Given the description of an element on the screen output the (x, y) to click on. 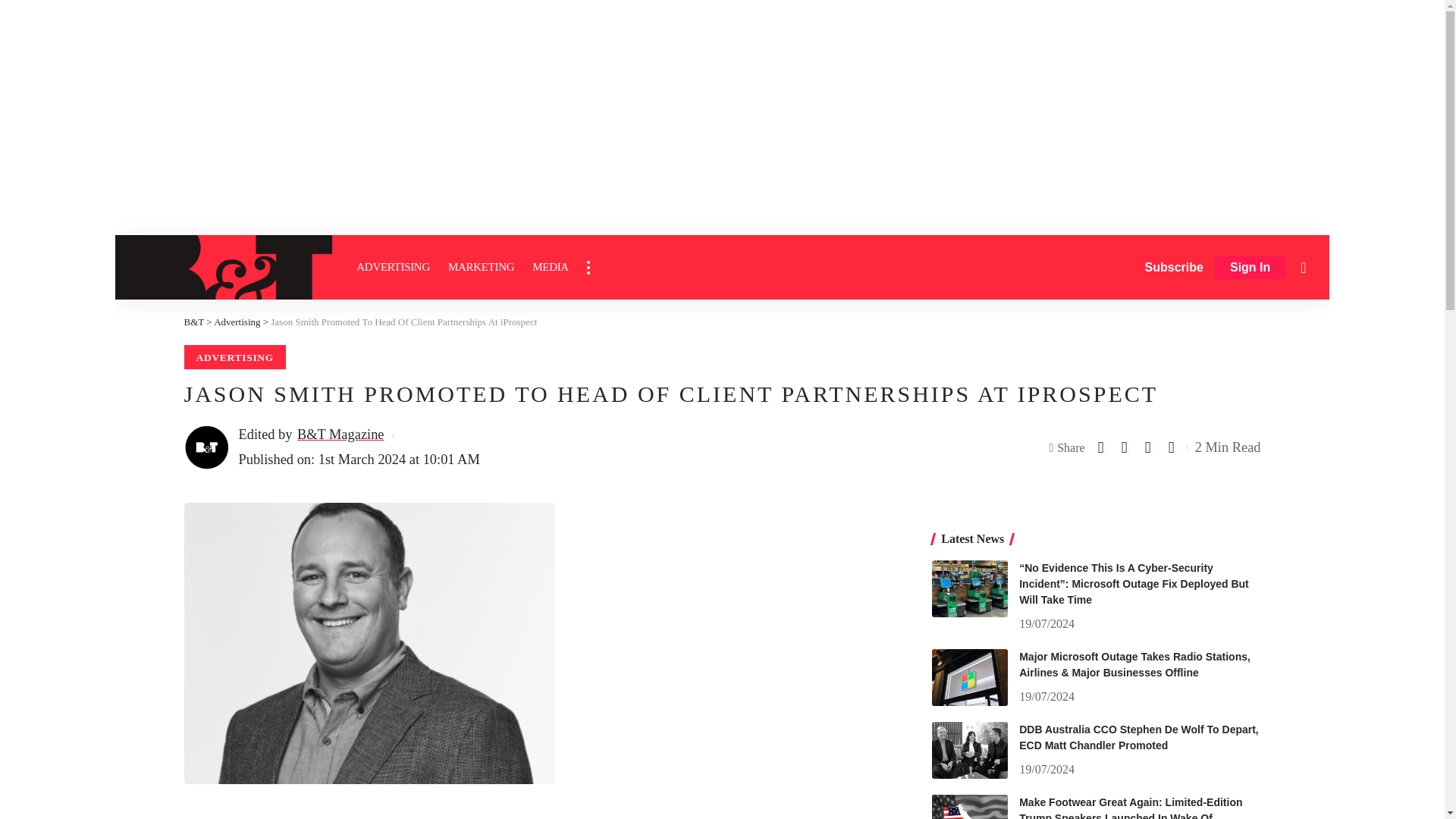
MARKETING (480, 267)
Go to the Advertising Category archives. (237, 321)
Subscribe (1174, 267)
Sign In (1249, 267)
ADVERTISING (393, 267)
